Given the description of an element on the screen output the (x, y) to click on. 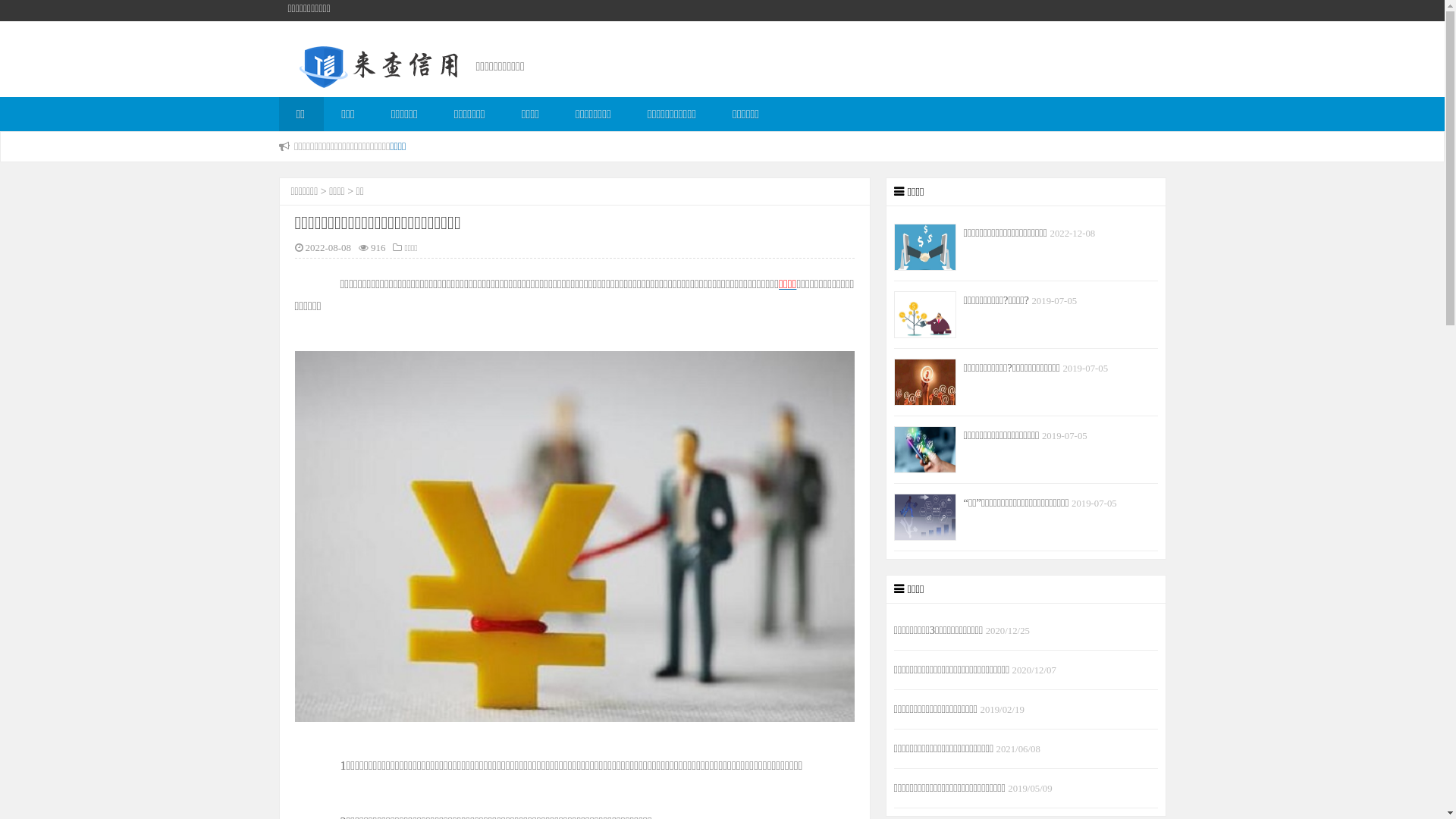
18.jpg Element type: hover (573, 536)
